Given the description of an element on the screen output the (x, y) to click on. 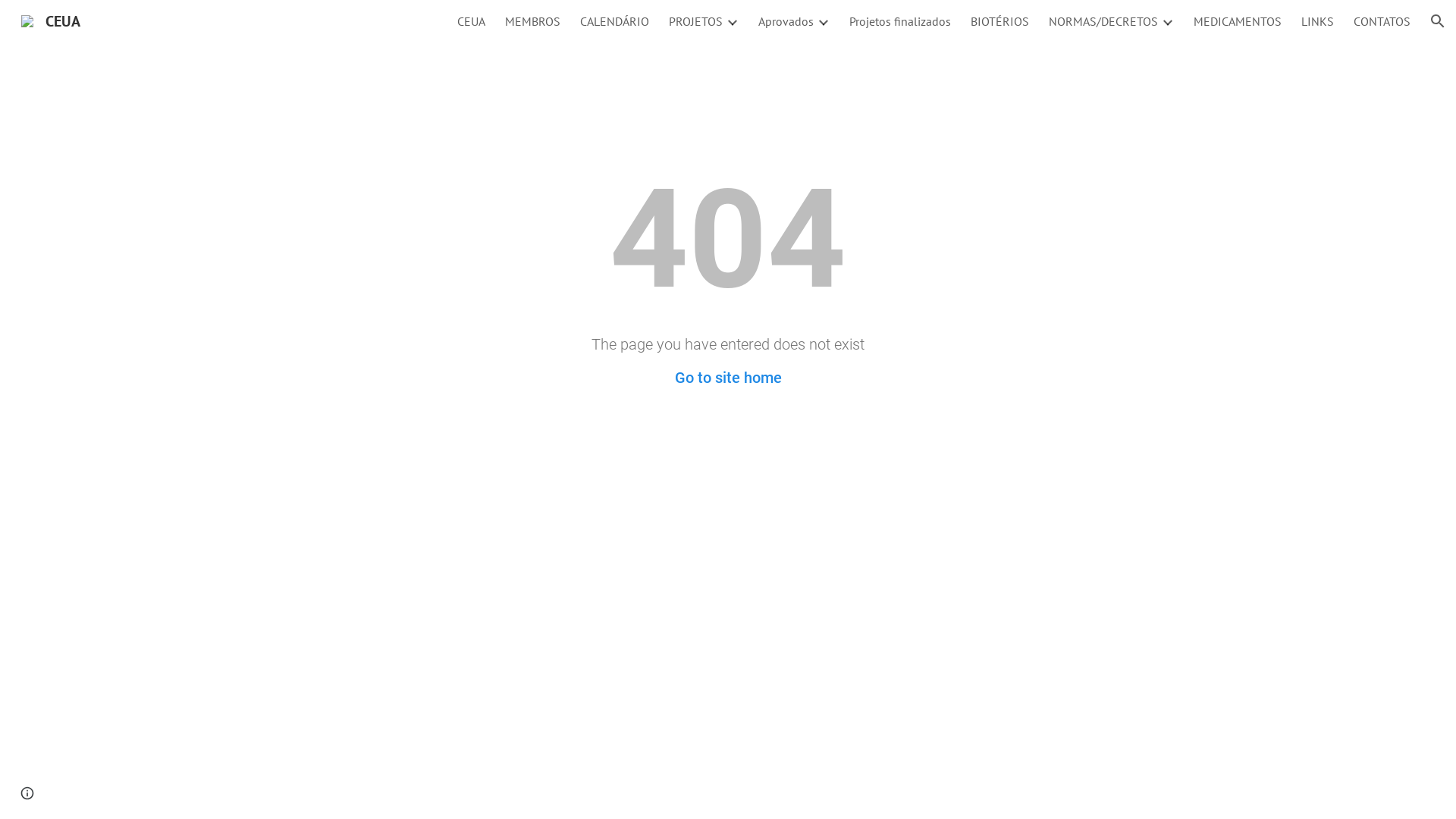
Go to site home Element type: text (727, 377)
Projetos finalizados Element type: text (899, 20)
MEMBROS Element type: text (532, 20)
CONTATOS Element type: text (1381, 20)
Expand/Collapse Element type: hover (1166, 20)
NORMAS/DECRETOS Element type: text (1102, 20)
Expand/Collapse Element type: hover (731, 20)
CEUA Element type: text (50, 19)
MEDICAMENTOS Element type: text (1237, 20)
Aprovados Element type: text (785, 20)
LINKS Element type: text (1317, 20)
PROJETOS Element type: text (695, 20)
Expand/Collapse Element type: hover (822, 20)
CEUA Element type: text (471, 20)
